Given the description of an element on the screen output the (x, y) to click on. 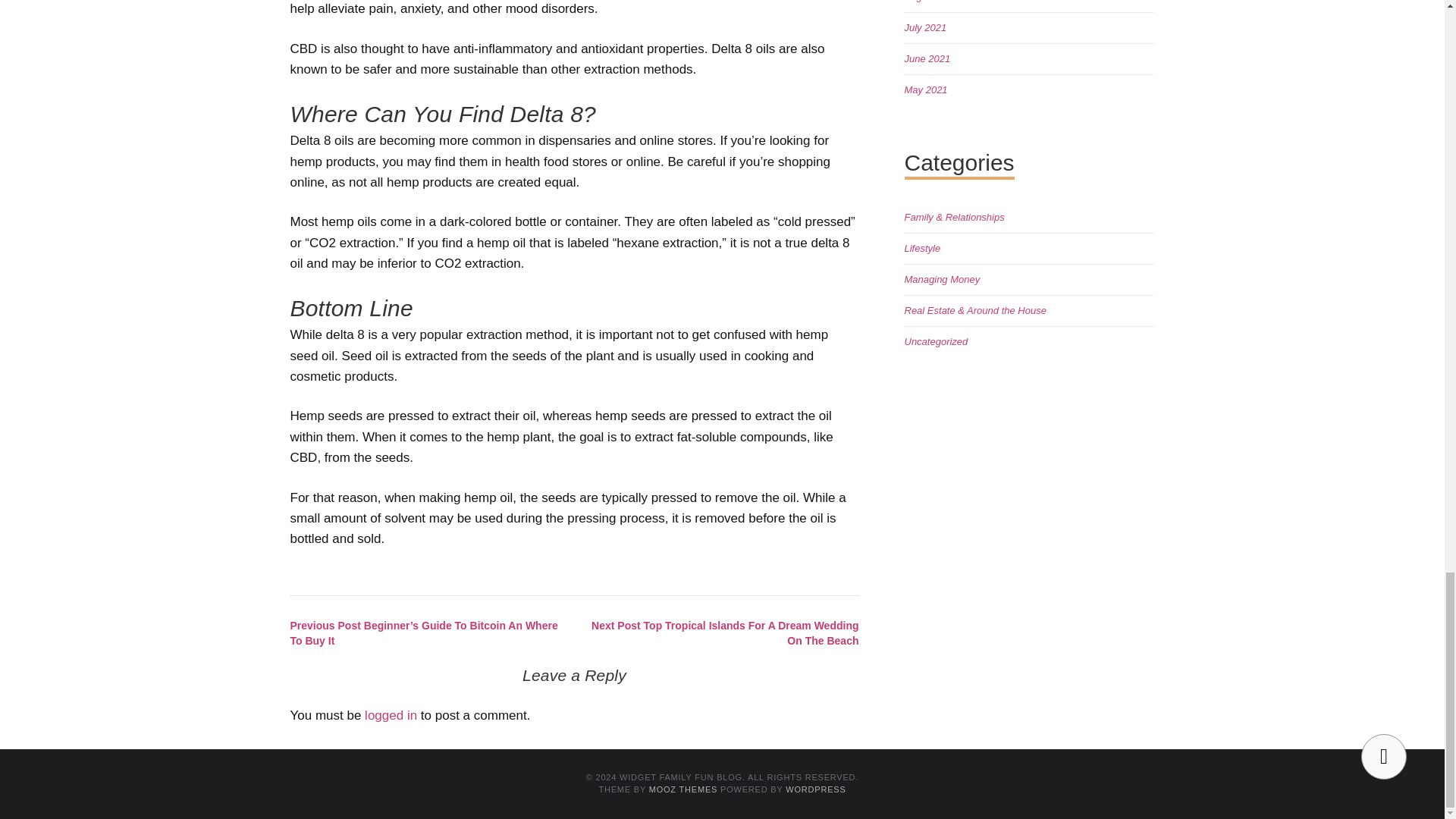
logged in (390, 715)
